Given the description of an element on the screen output the (x, y) to click on. 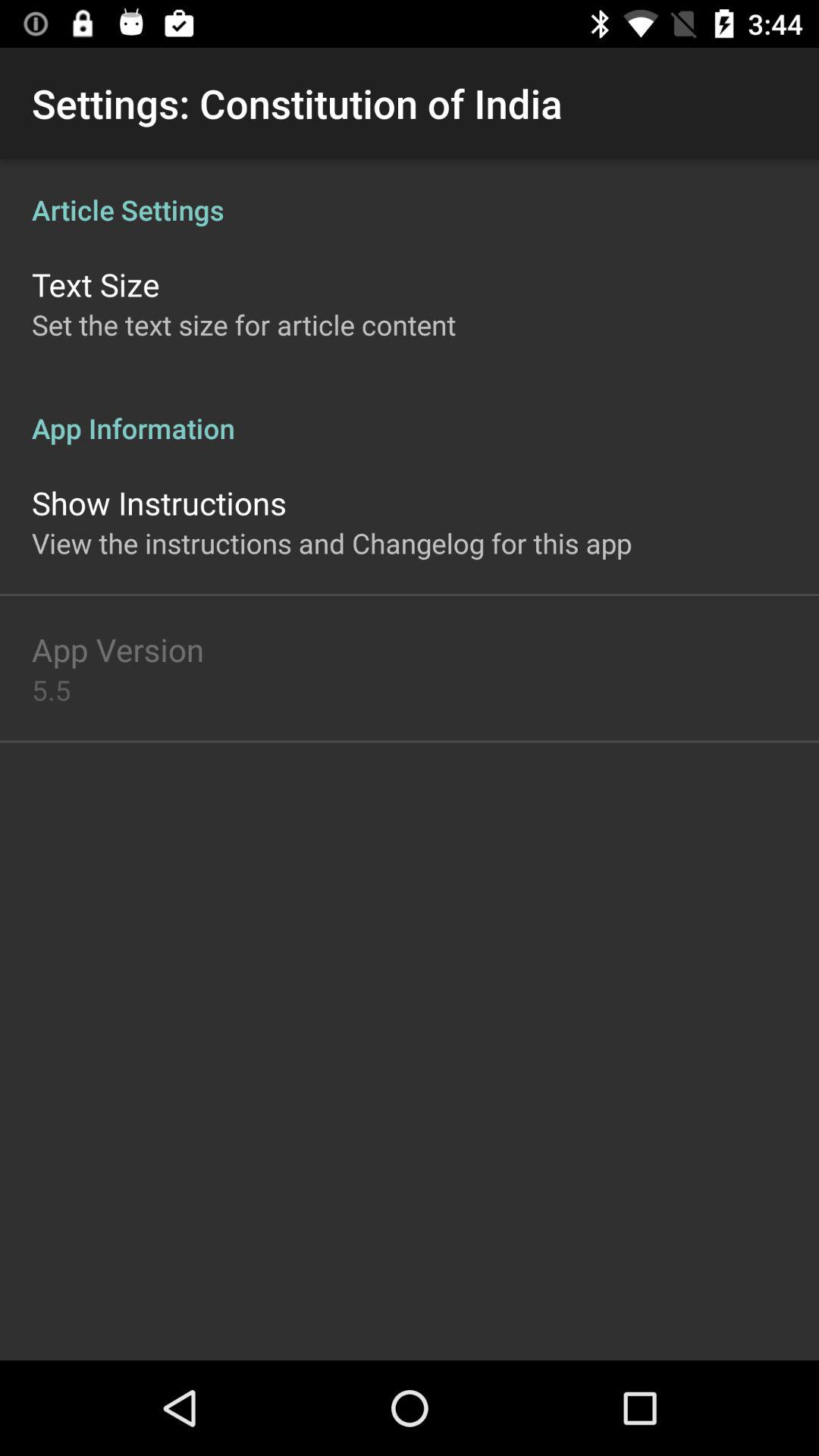
flip to the show instructions item (158, 502)
